Given the description of an element on the screen output the (x, y) to click on. 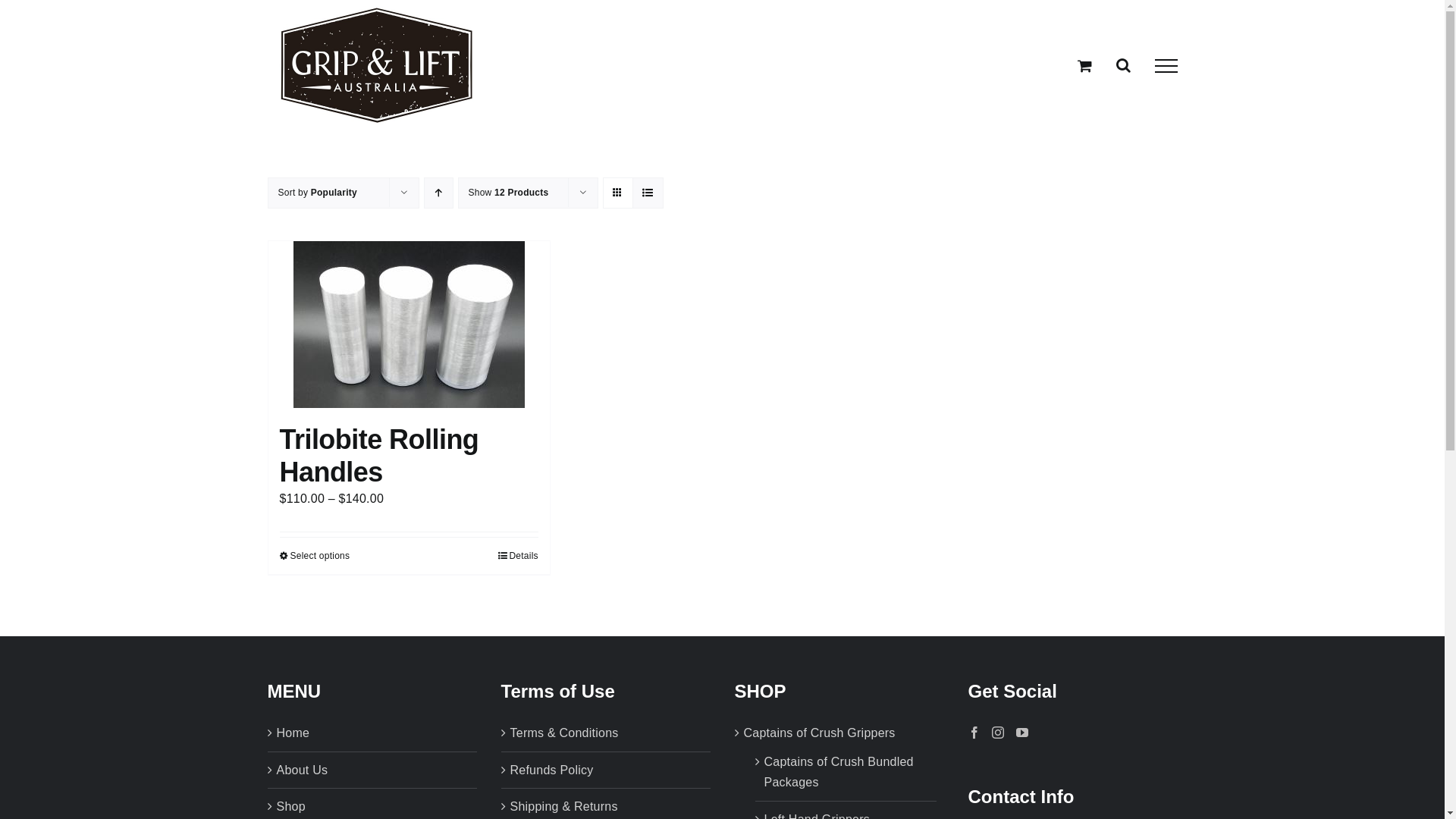
Shop Element type: text (372, 806)
Shipping & Returns Element type: text (605, 806)
Sort by Popularity Element type: text (316, 192)
Trilobite Rolling Handles Element type: text (378, 455)
YouTube Element type: hover (1022, 732)
Captains of Crush Grippers Element type: text (818, 732)
Facebook Element type: hover (973, 732)
Show 12 Products Element type: text (508, 192)
Instagram Element type: hover (997, 732)
Terms & Conditions Element type: text (605, 732)
About Us Element type: text (372, 770)
Home Element type: text (372, 732)
Details Element type: text (517, 555)
Captains of Crush Bundled Packages Element type: text (846, 772)
Refunds Policy Element type: text (605, 770)
Select options Element type: text (314, 555)
